Given the description of an element on the screen output the (x, y) to click on. 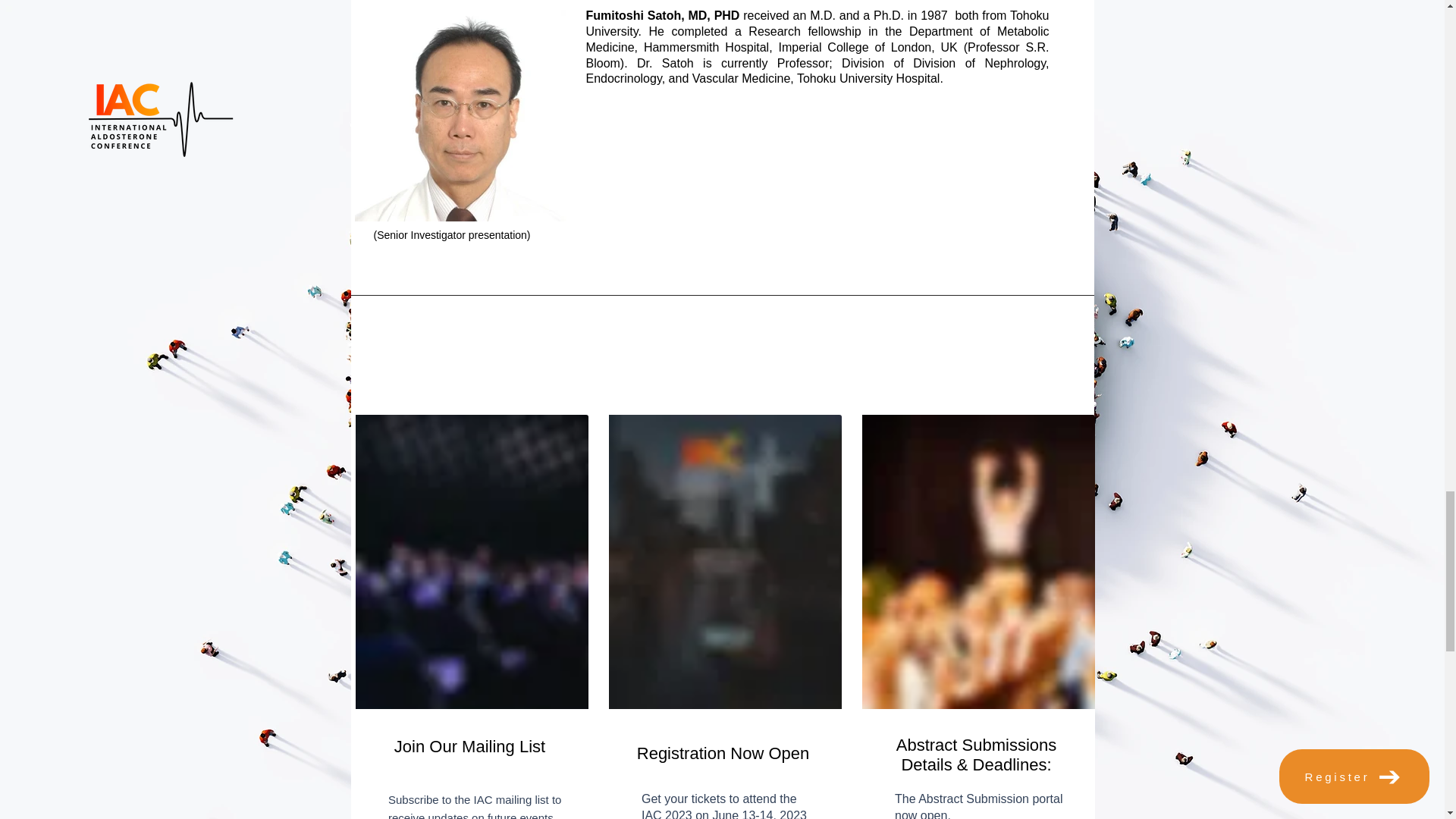
Senior Invest. Presentation (645, 161)
